Given the description of an element on the screen output the (x, y) to click on. 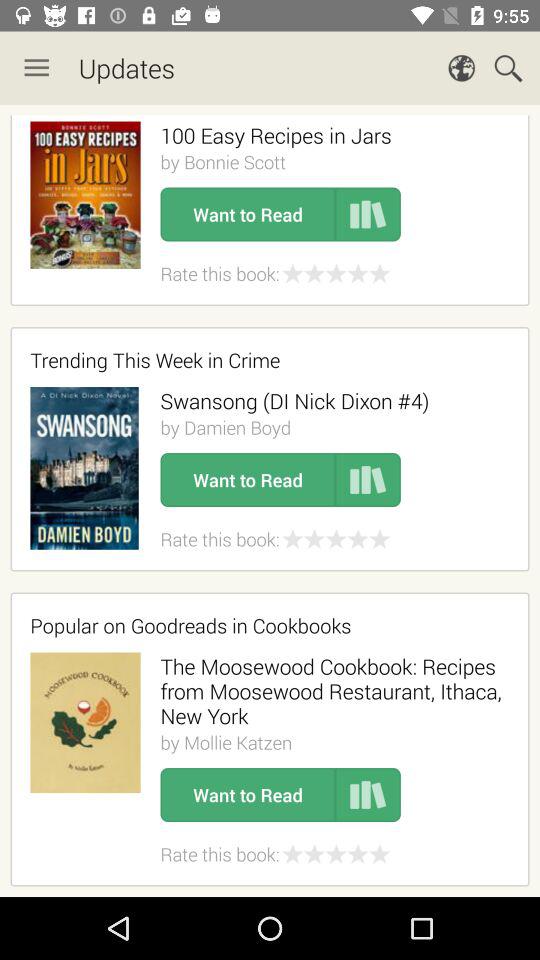
open 100 easy recipes (275, 135)
